Given the description of an element on the screen output the (x, y) to click on. 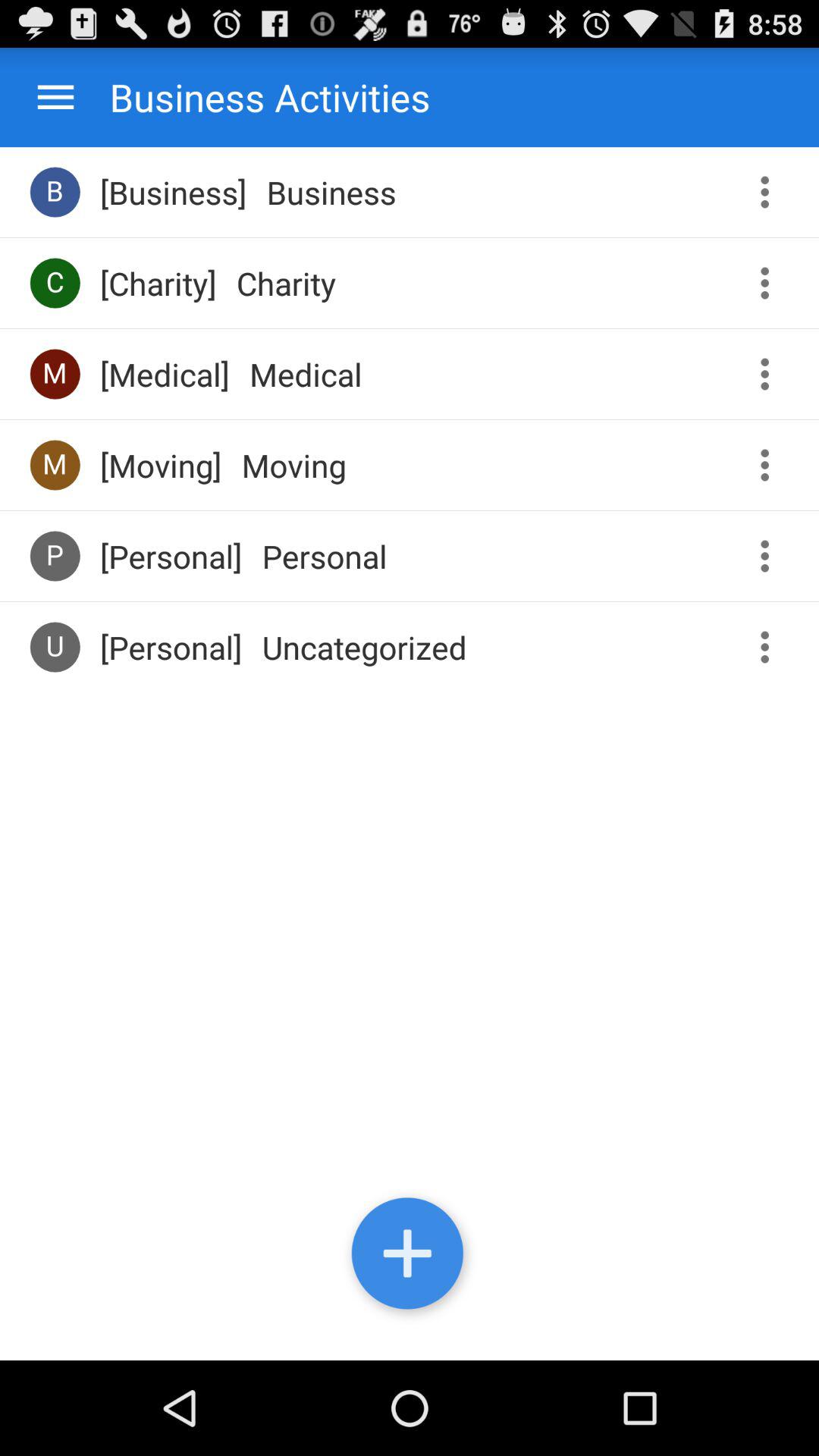
open business options (770, 192)
